Given the description of an element on the screen output the (x, y) to click on. 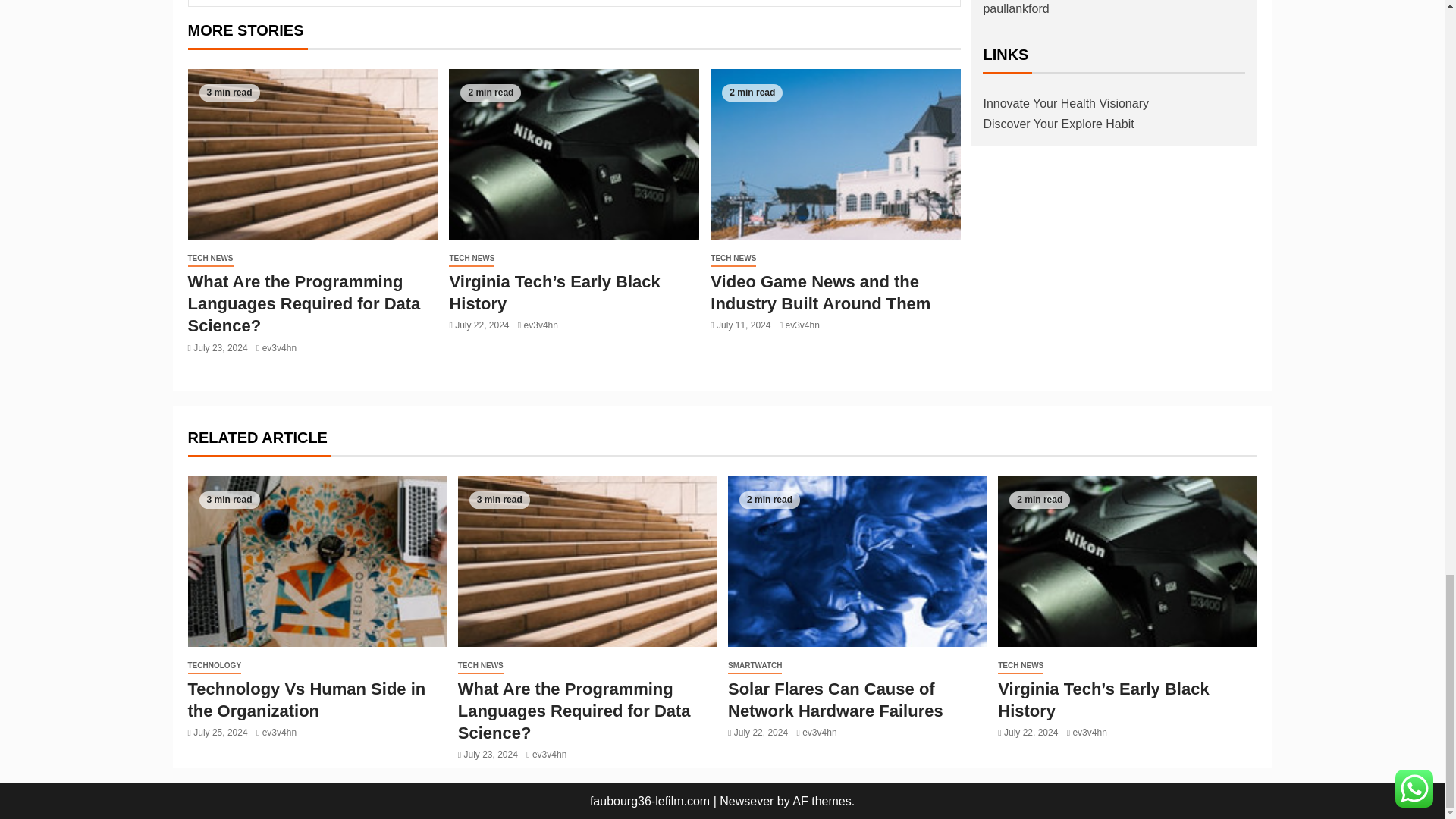
Video Game News and the Industry Built Around Them (835, 153)
